Given the description of an element on the screen output the (x, y) to click on. 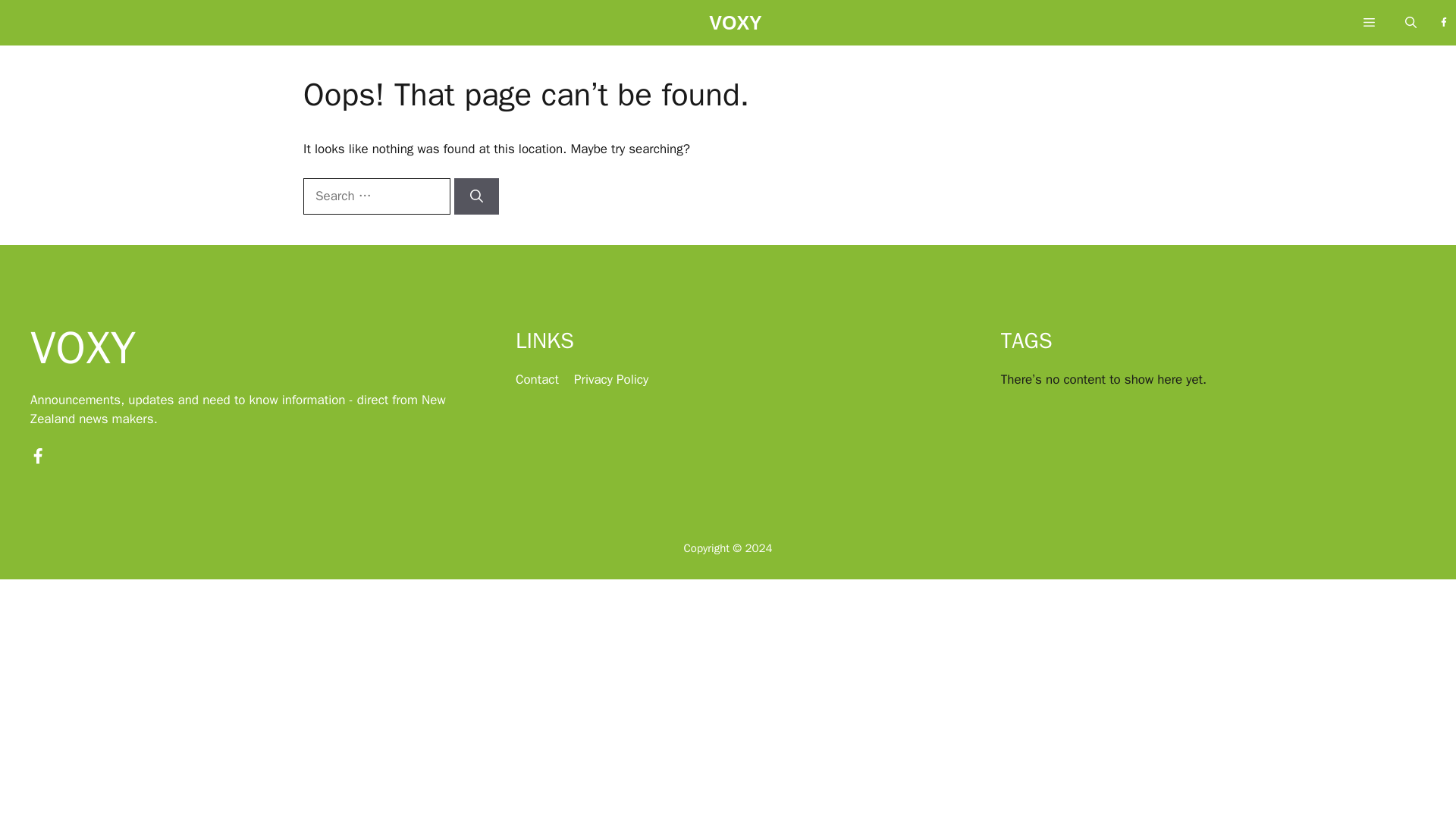
VOXY (735, 26)
Search for: (375, 196)
Contact (537, 379)
Privacy Policy (610, 379)
